Given the description of an element on the screen output the (x, y) to click on. 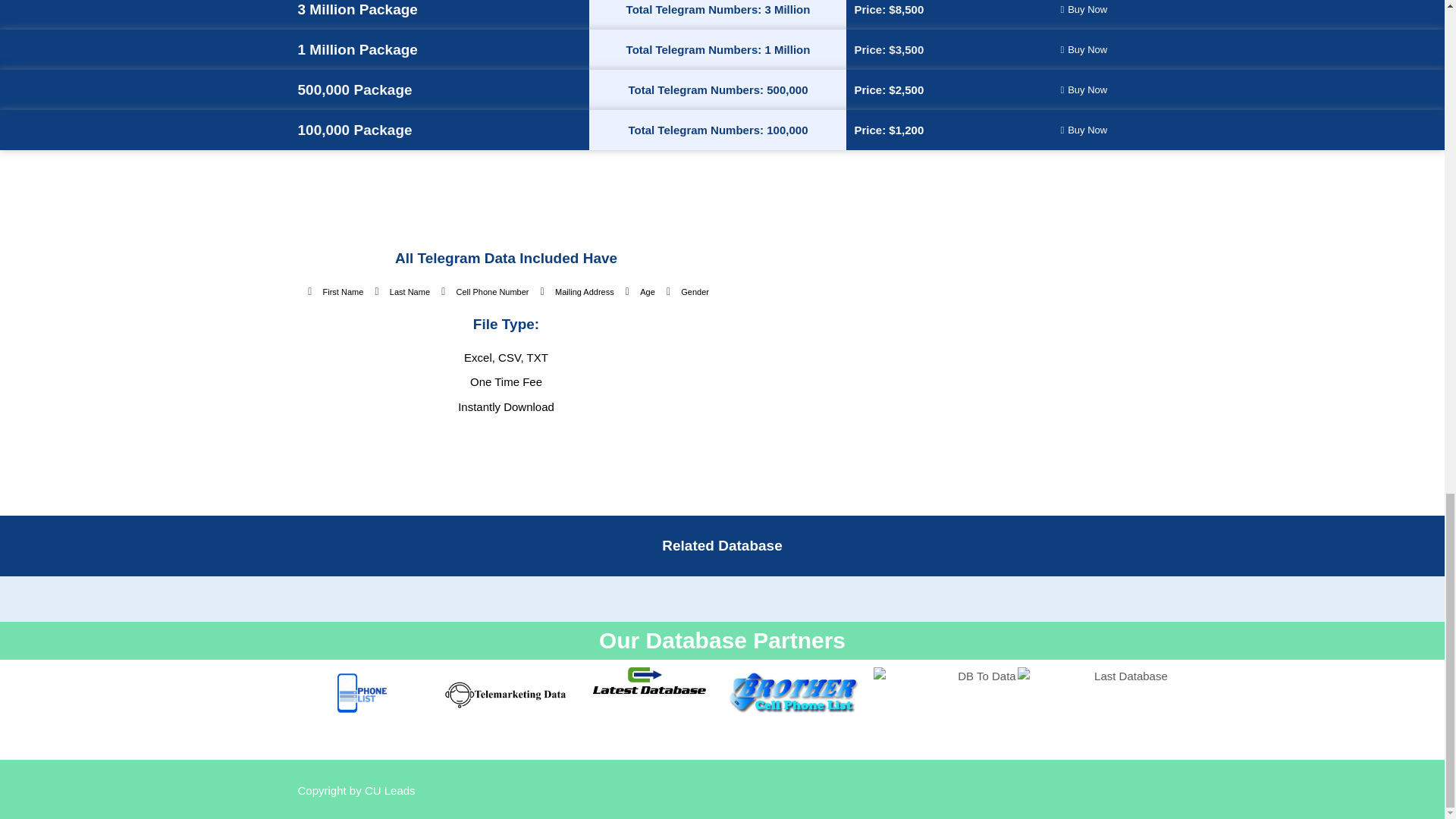
CU Leads (389, 789)
Buy Now (1083, 49)
Buy Now (1083, 89)
Buy Now (1083, 11)
Buy Now (1083, 129)
